Given the description of an element on the screen output the (x, y) to click on. 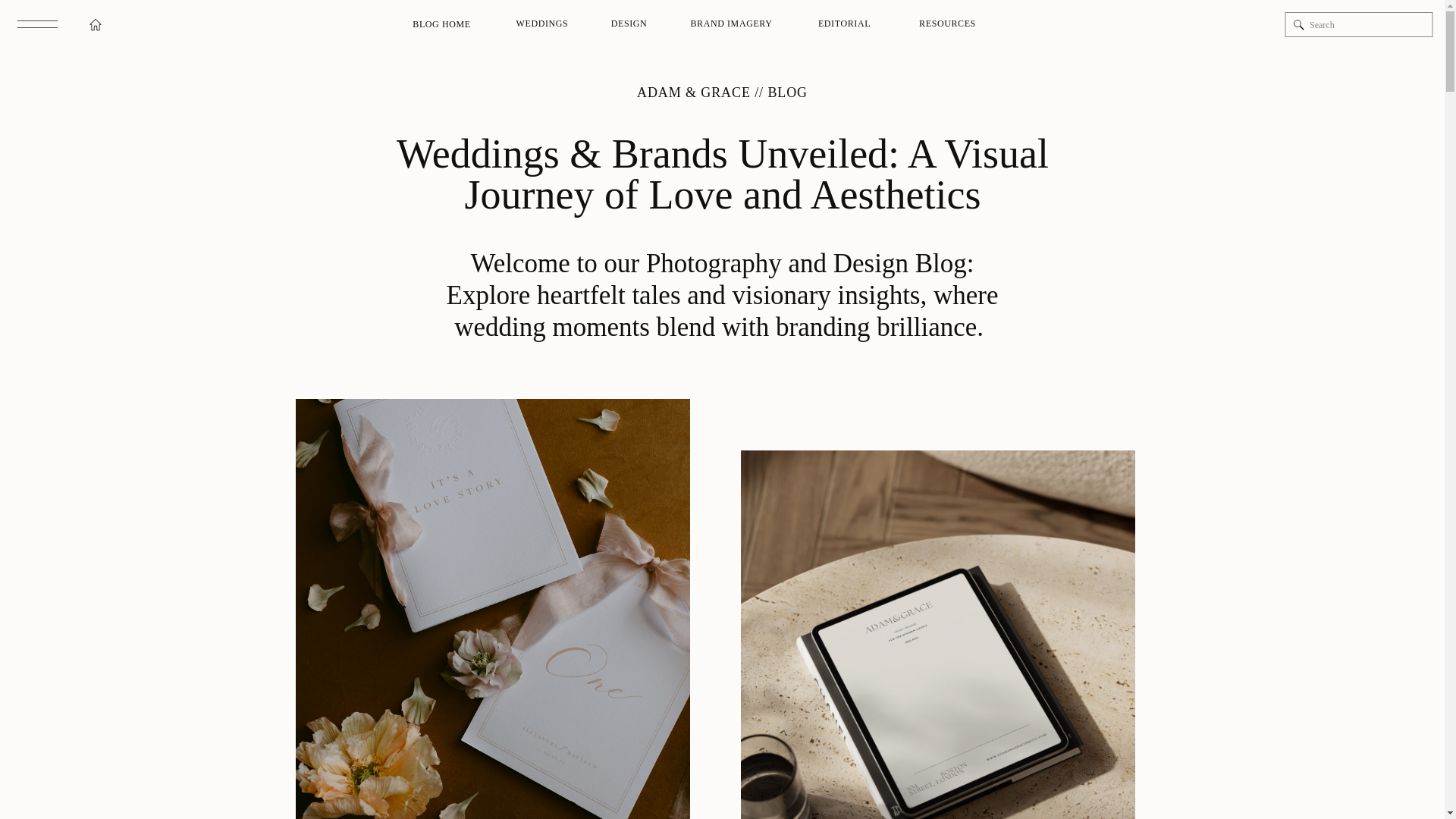
BRAND IMAGERY (731, 23)
WEDDINGS (541, 23)
RESOURCES (947, 23)
EDITORIAL (844, 23)
DESIGN (628, 23)
BLOG HOME (441, 24)
